Given the description of an element on the screen output the (x, y) to click on. 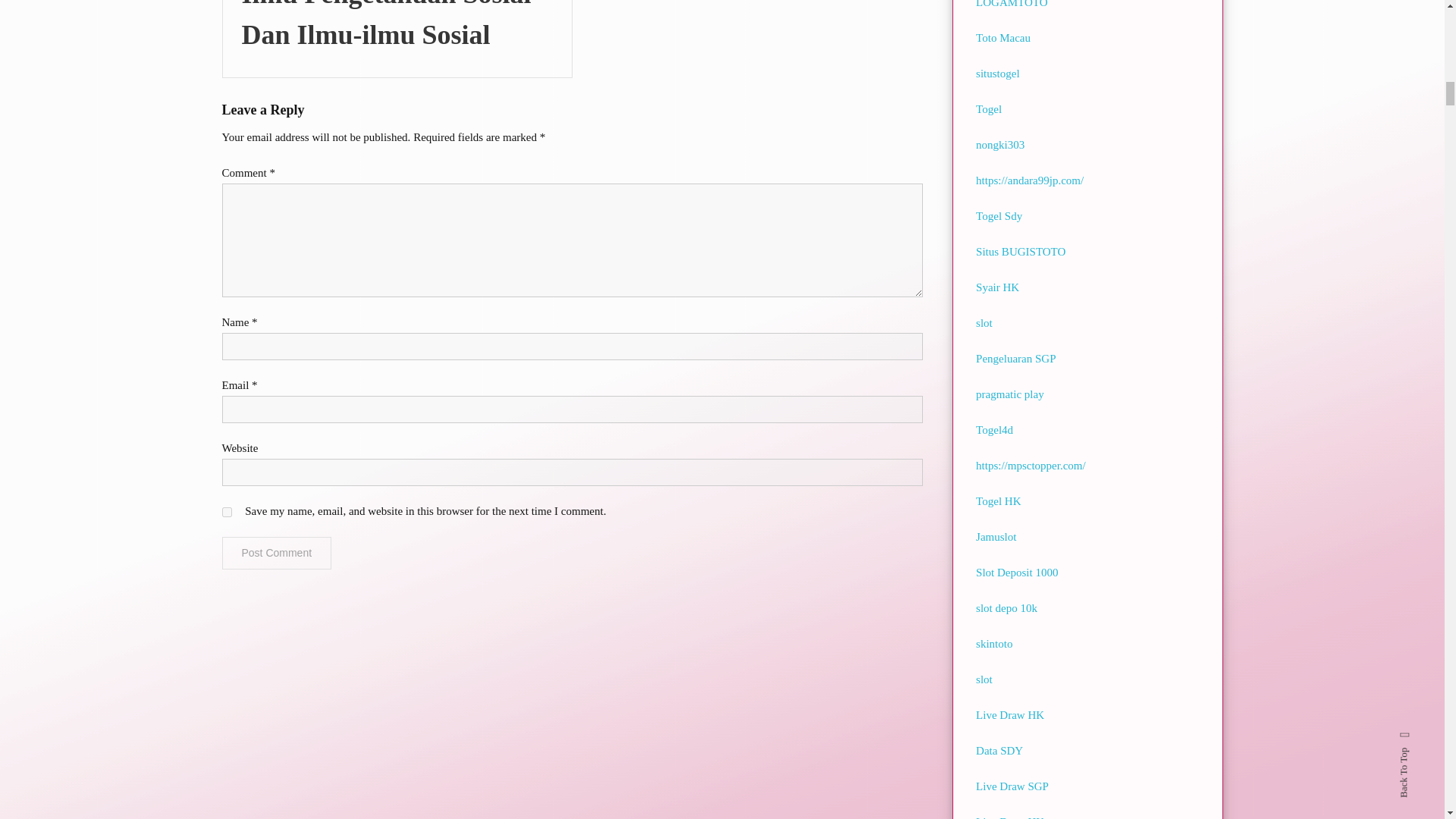
Post Comment (276, 553)
yes (226, 511)
Post Comment (276, 553)
